Given the description of an element on the screen output the (x, y) to click on. 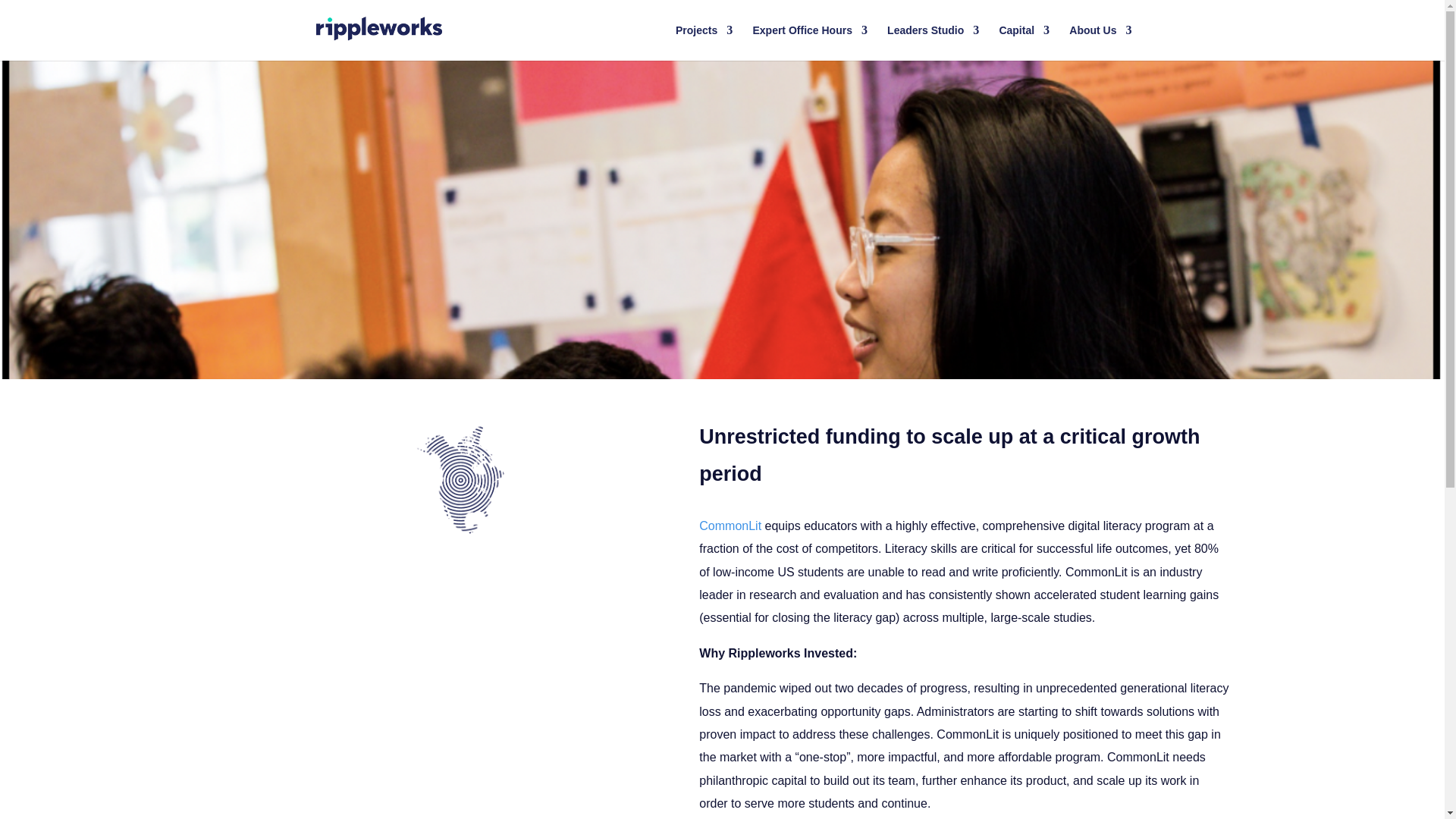
Capital (1023, 42)
Leaders Studio (932, 42)
CommonLit (729, 525)
Projects (703, 42)
Expert Office Hours (809, 42)
About Us (1099, 42)
